Given the description of an element on the screen output the (x, y) to click on. 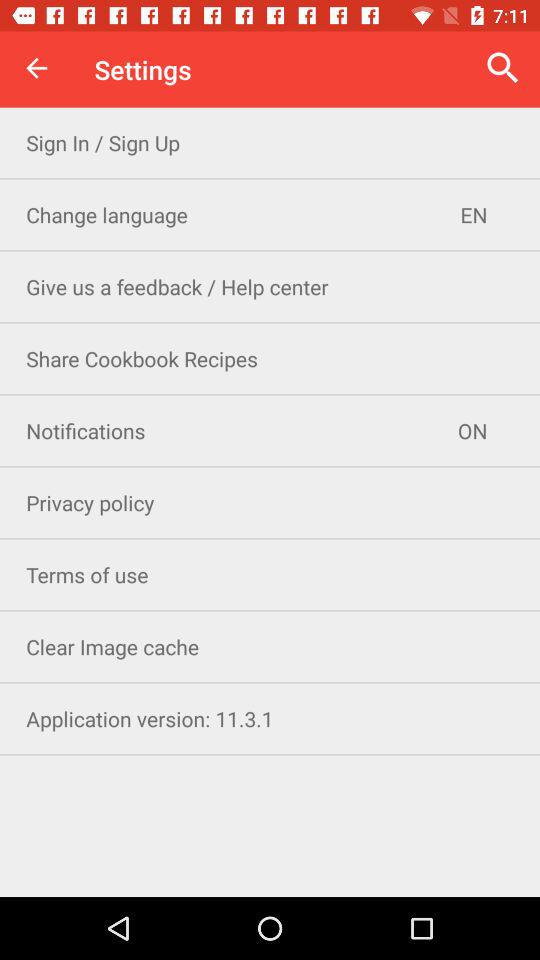
jump until privacy policy (270, 502)
